Given the description of an element on the screen output the (x, y) to click on. 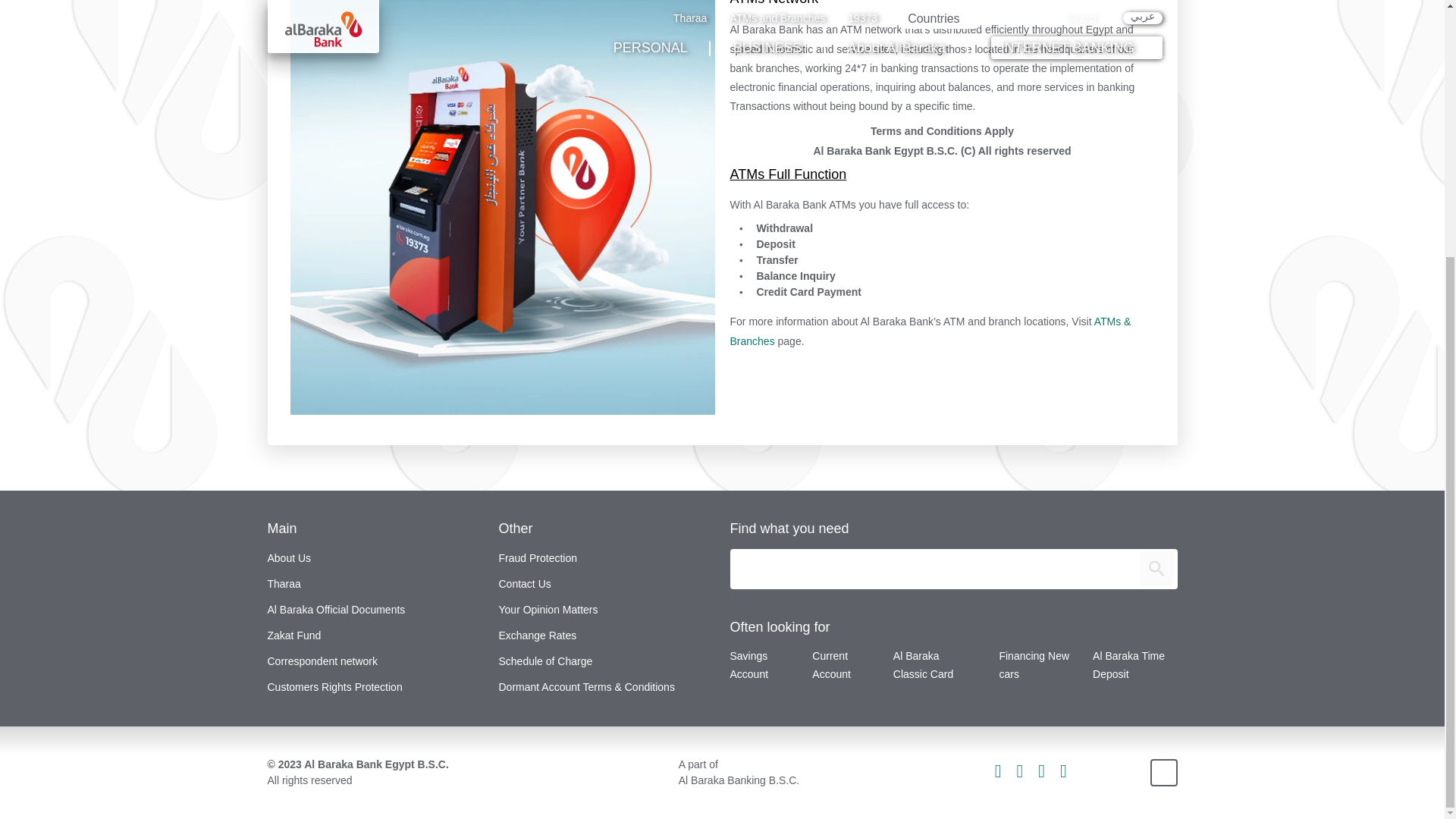
Search (1155, 569)
Search (1155, 569)
